Given the description of an element on the screen output the (x, y) to click on. 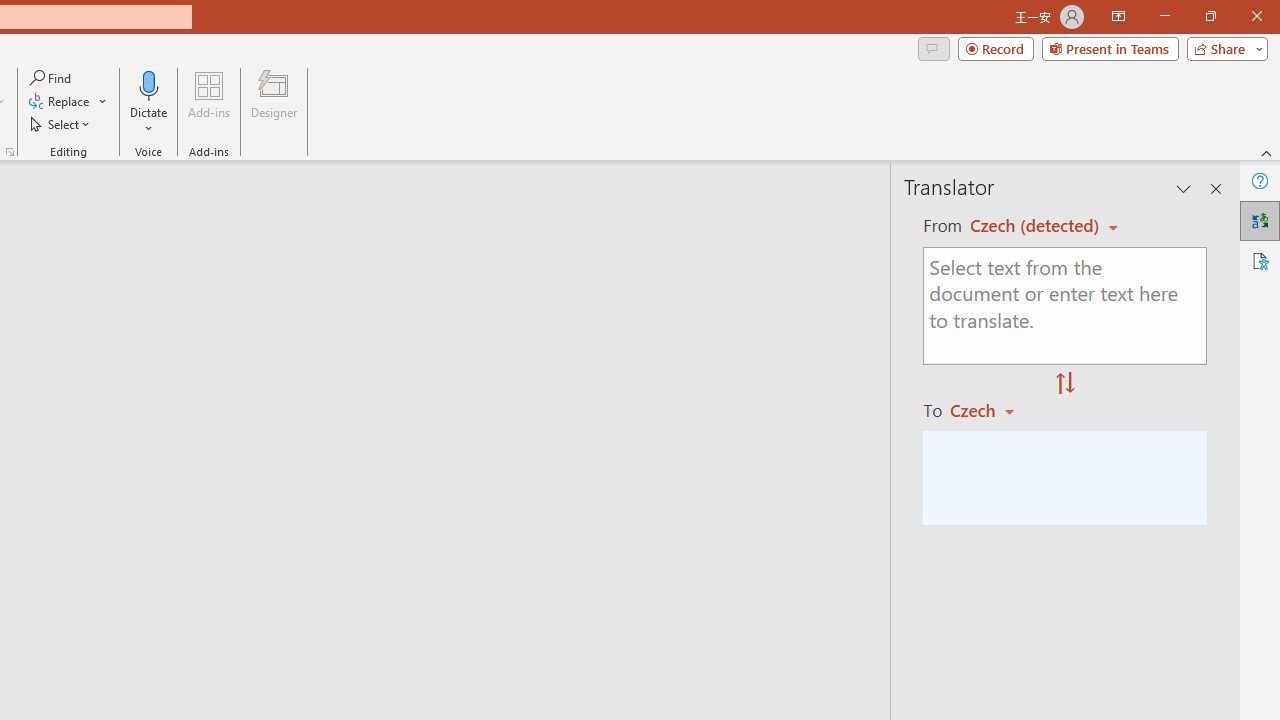
Czech (991, 409)
